Given the description of an element on the screen output the (x, y) to click on. 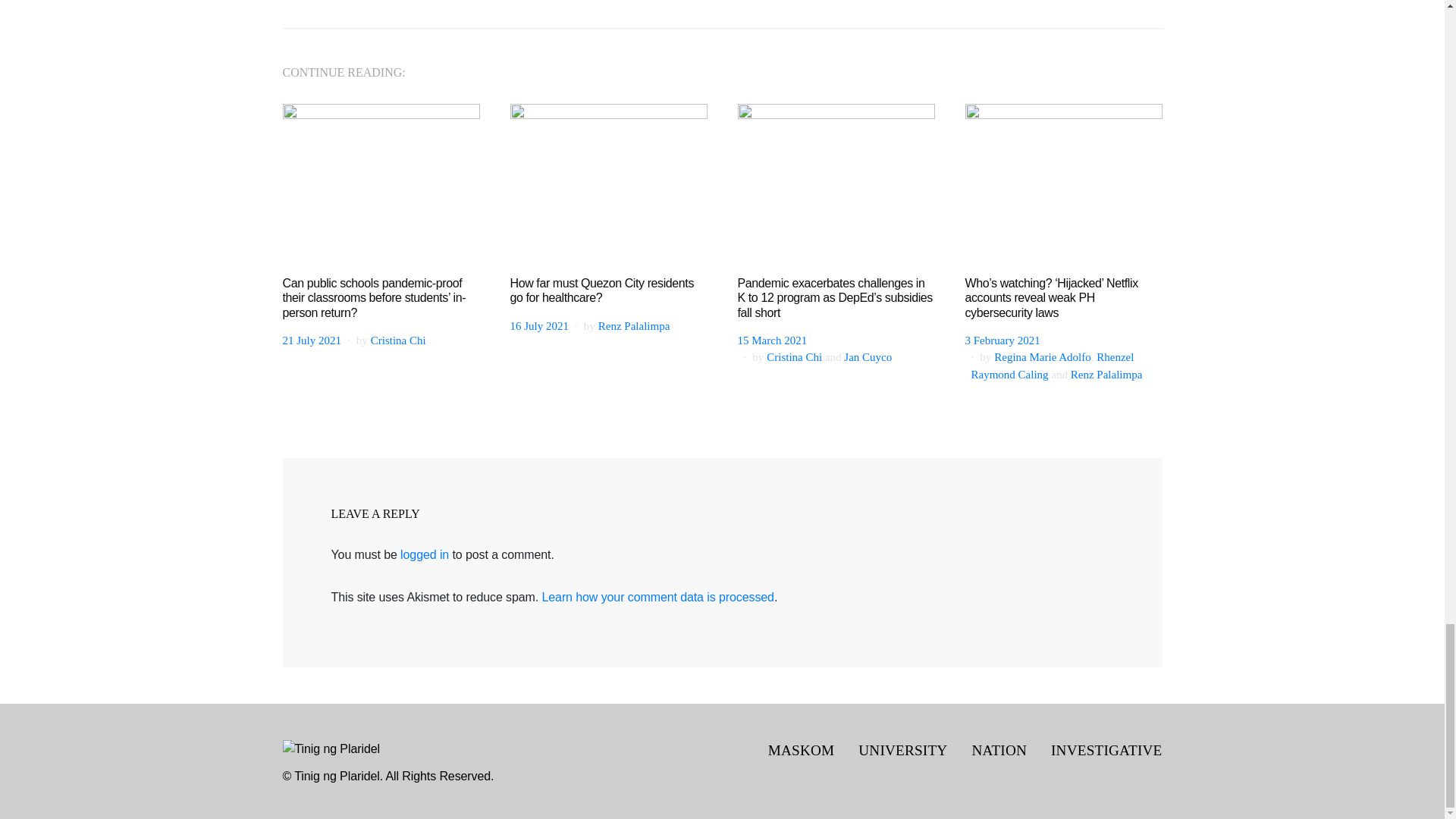
Posts by Rhenzel Raymond Caling (1052, 365)
Posts by Cristina Chi (398, 340)
Posts by Cristina Chi (794, 357)
Posts by Jan Cuyco (867, 357)
Posts by Renz Palalimpa (1106, 374)
Posts by Renz Palalimpa (633, 326)
Posts by Regina Marie Adolfo (1042, 357)
